Given the description of an element on the screen output the (x, y) to click on. 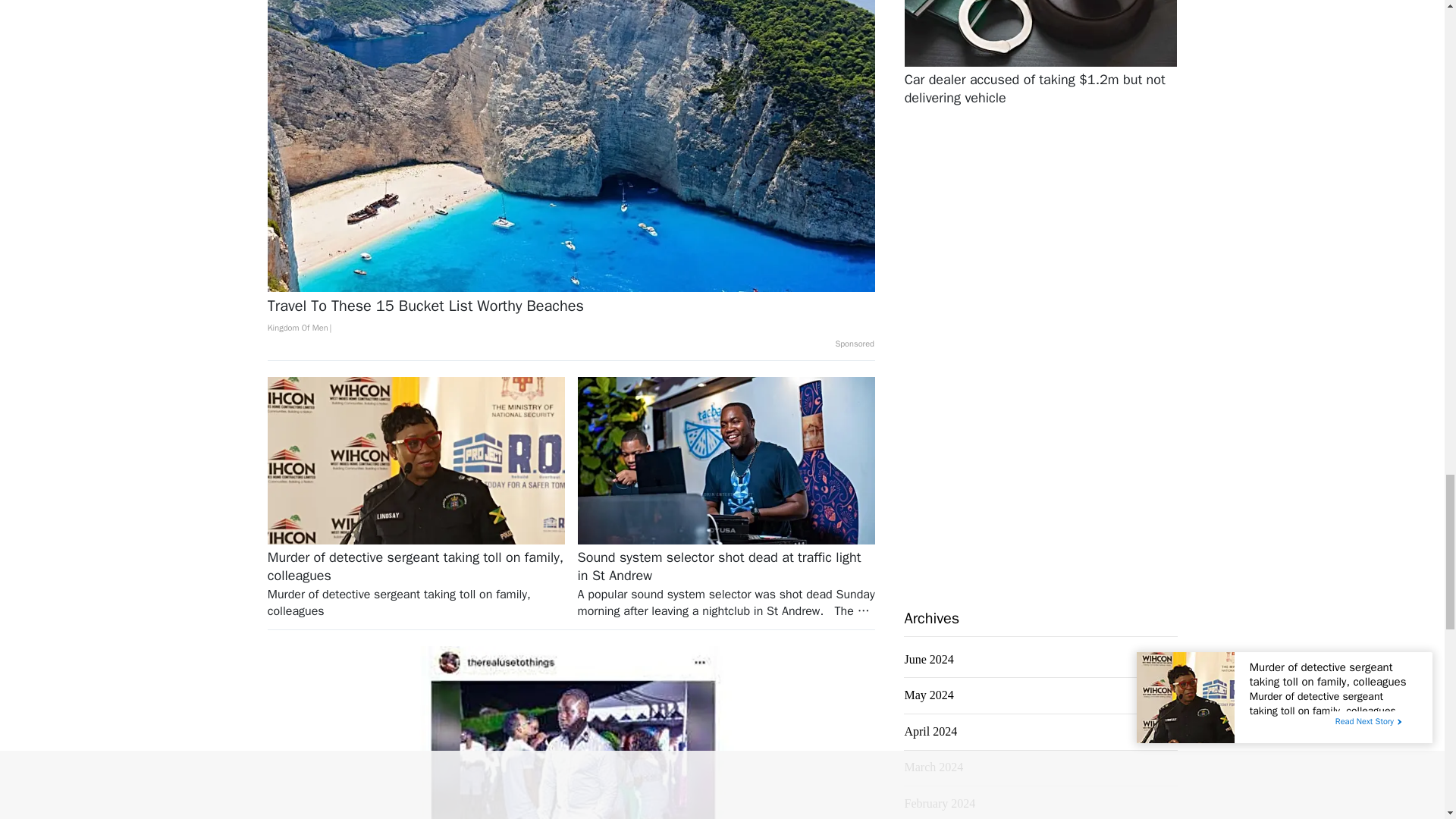
Travel To These 15 Bucket List Worthy Beaches (571, 316)
